Given the description of an element on the screen output the (x, y) to click on. 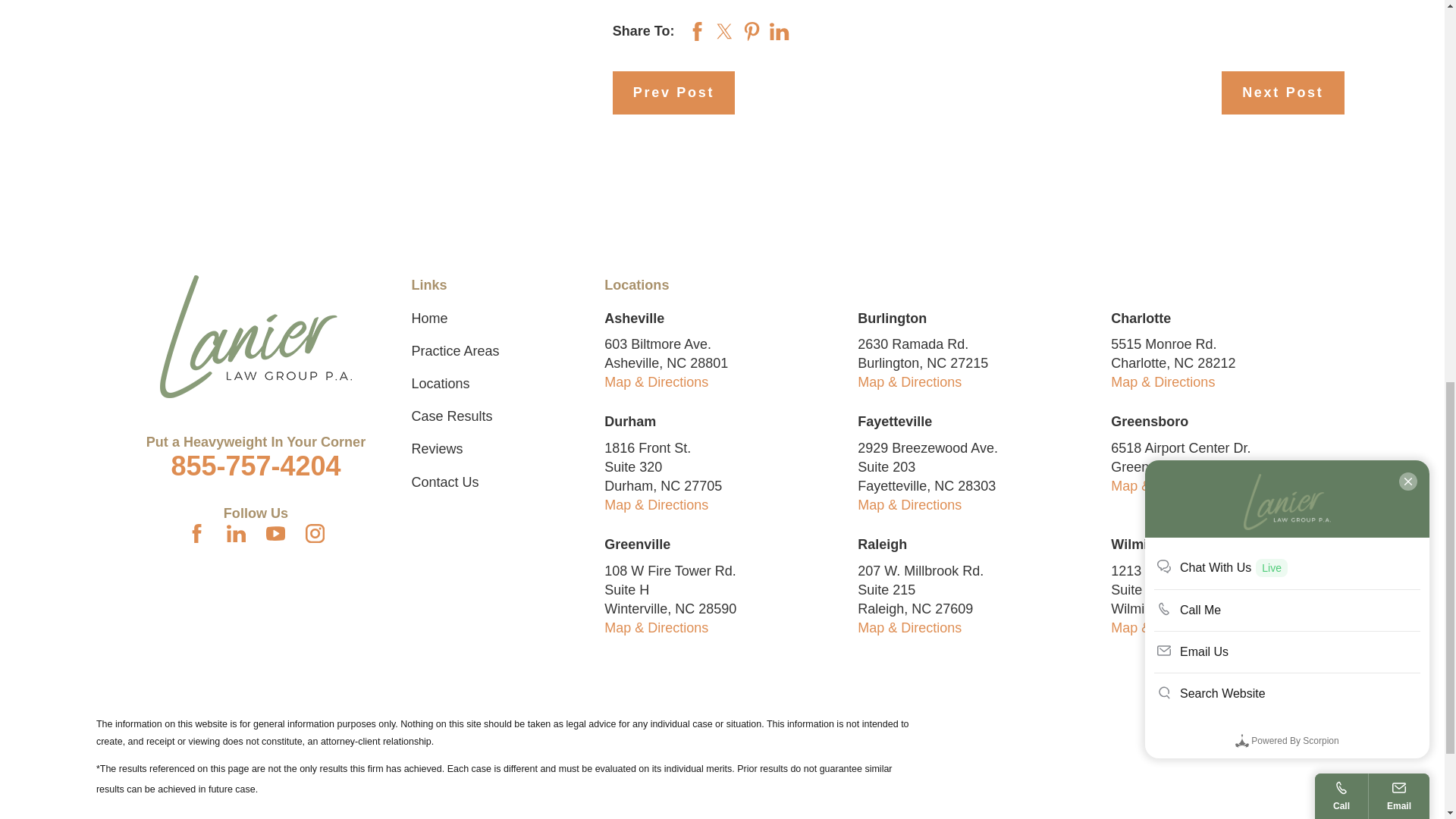
LinkedIn (236, 533)
Facebook (196, 533)
Lanier Law Group, P.A. (256, 336)
Home (256, 336)
